Given the description of an element on the screen output the (x, y) to click on. 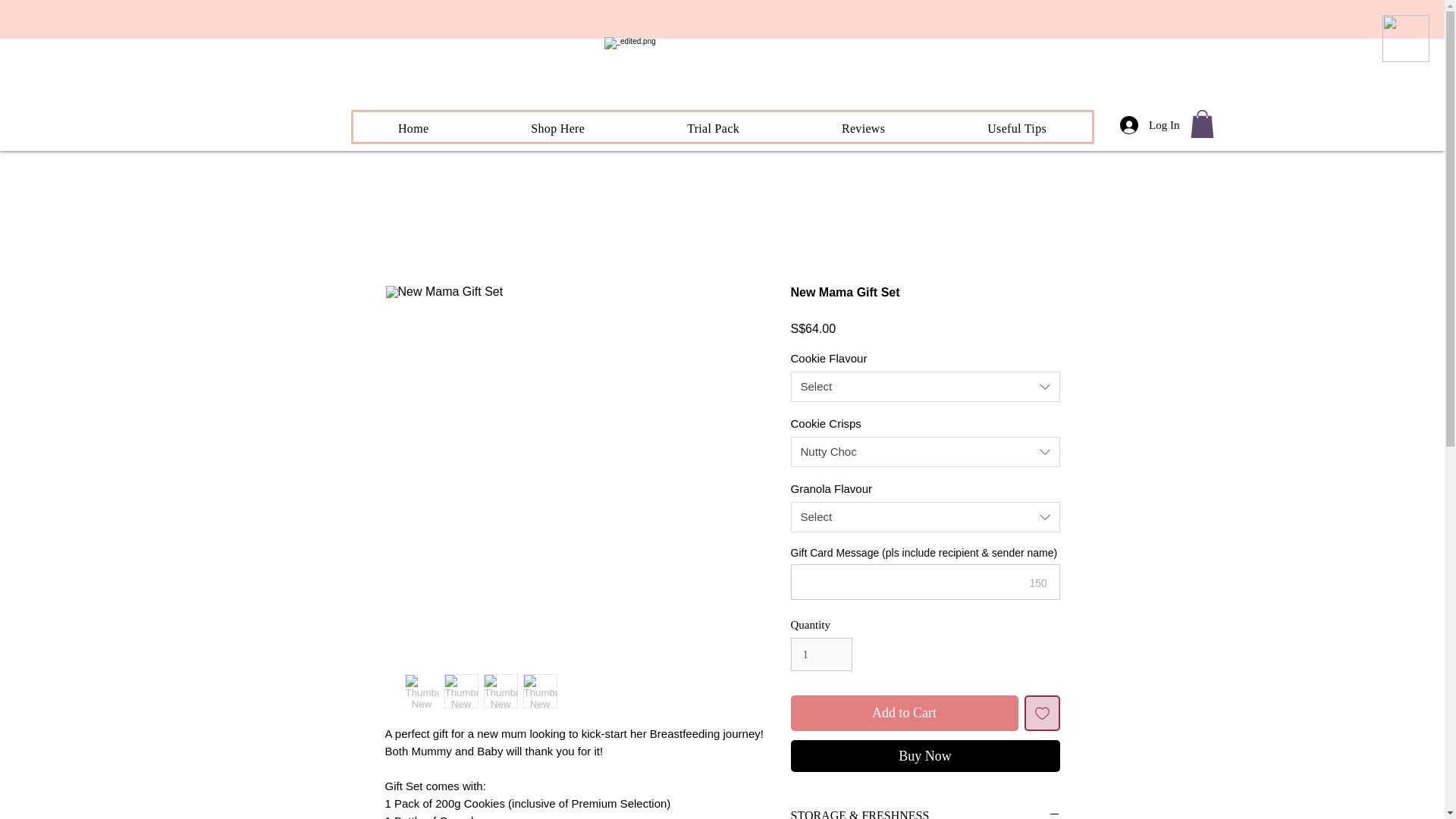
Nutty Choc (924, 451)
Buy Now (924, 756)
Select (721, 126)
Select (924, 386)
Trial Pack (924, 517)
Reviews (713, 128)
Home (863, 128)
Add to Cart (413, 128)
Shop Here (903, 713)
Useful Tips (558, 128)
1 (1017, 128)
Log In (820, 654)
